Given the description of an element on the screen output the (x, y) to click on. 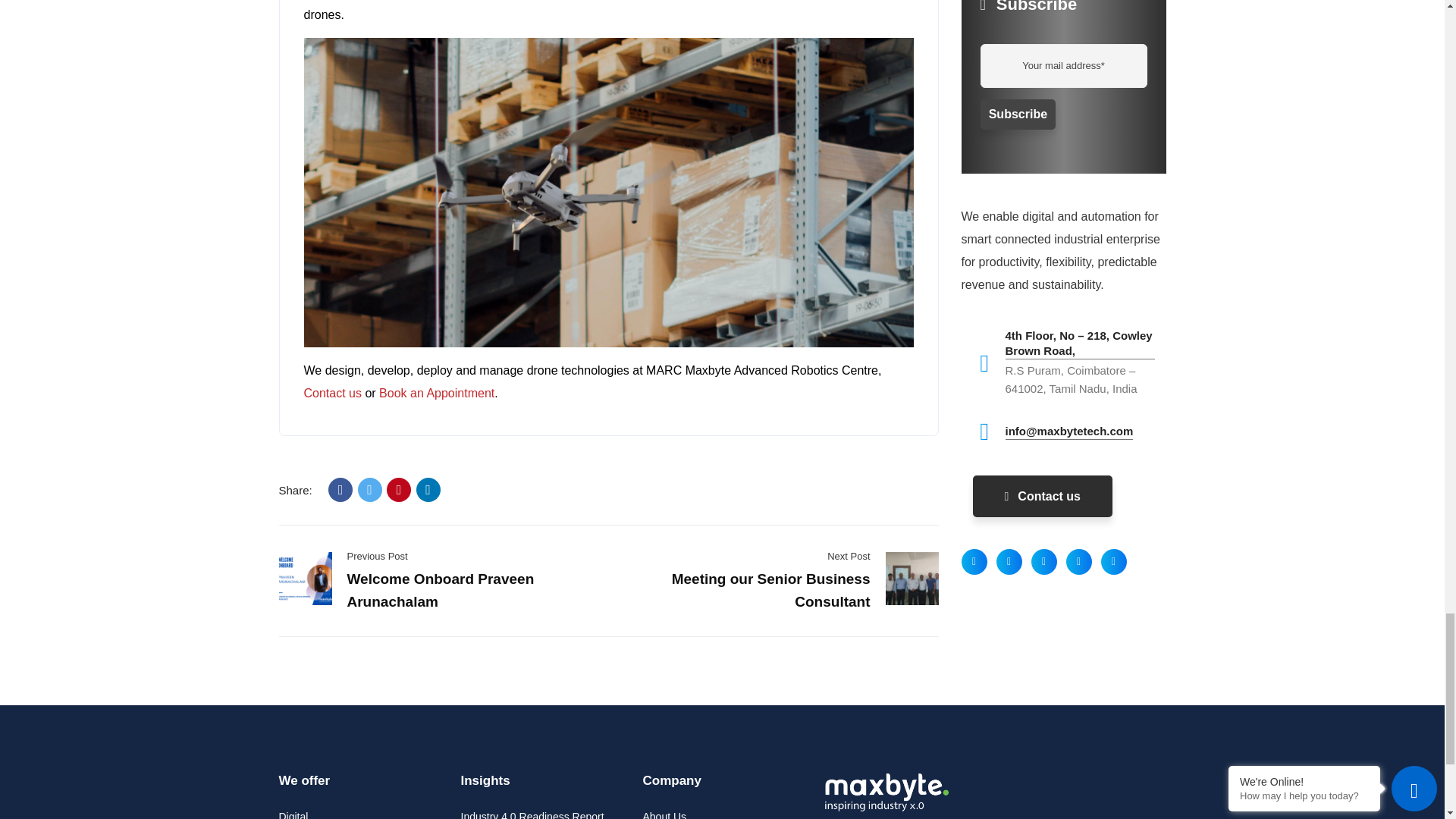
Twitter (369, 489)
Facebook (340, 489)
LinkedIn (428, 489)
Pinterest (398, 489)
